Given the description of an element on the screen output the (x, y) to click on. 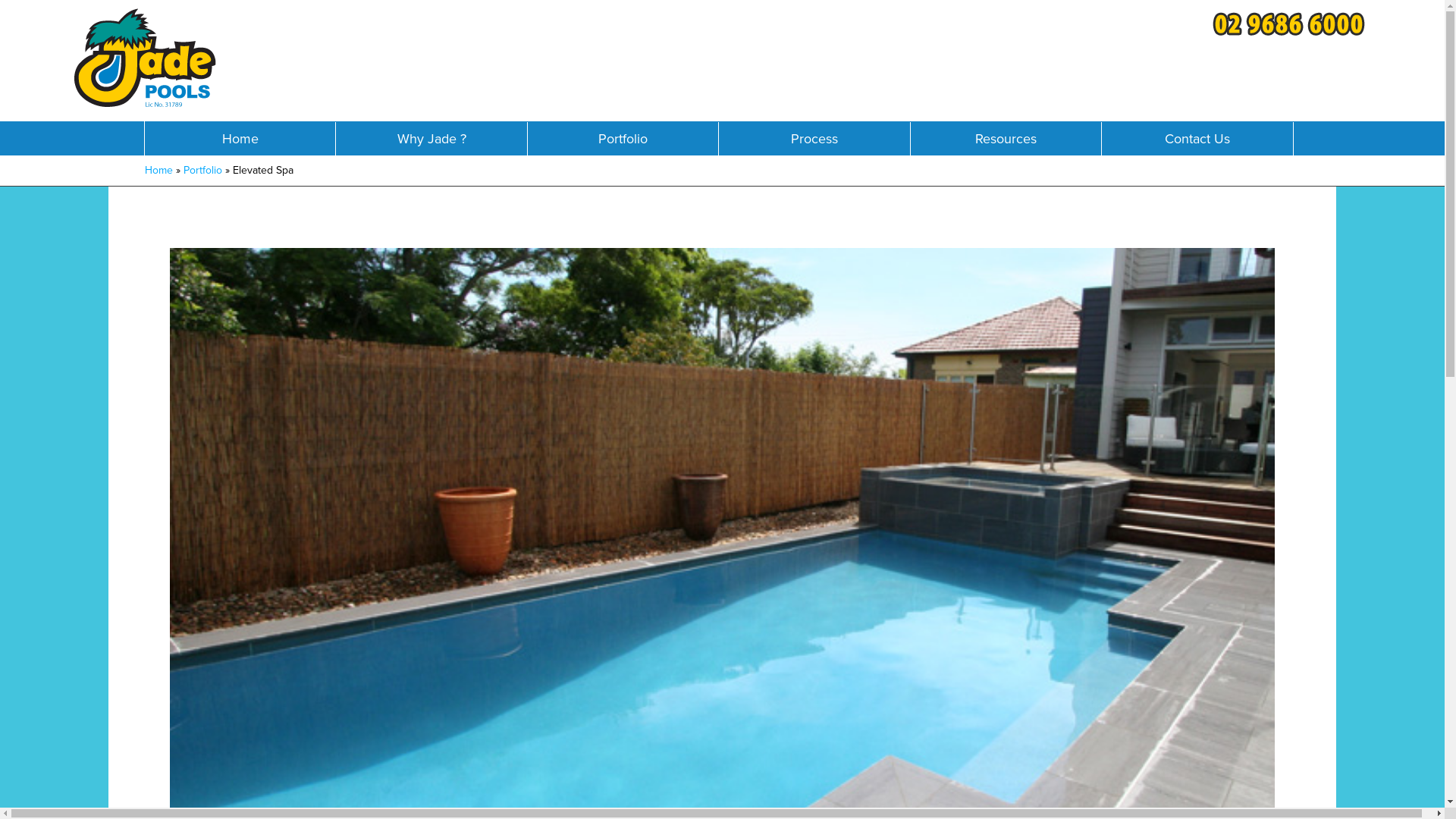
Home Element type: text (239, 139)
Portfolio Element type: text (622, 139)
Contact Us Element type: text (1196, 139)
02 9686 6000 Element type: text (1291, 28)
Portfolio Element type: text (202, 169)
Jade Pools Element type: text (144, 63)
Home Element type: text (158, 169)
Why Jade ? Element type: text (430, 139)
Resources Element type: text (1005, 139)
Process Element type: text (813, 139)
